Given the description of an element on the screen output the (x, y) to click on. 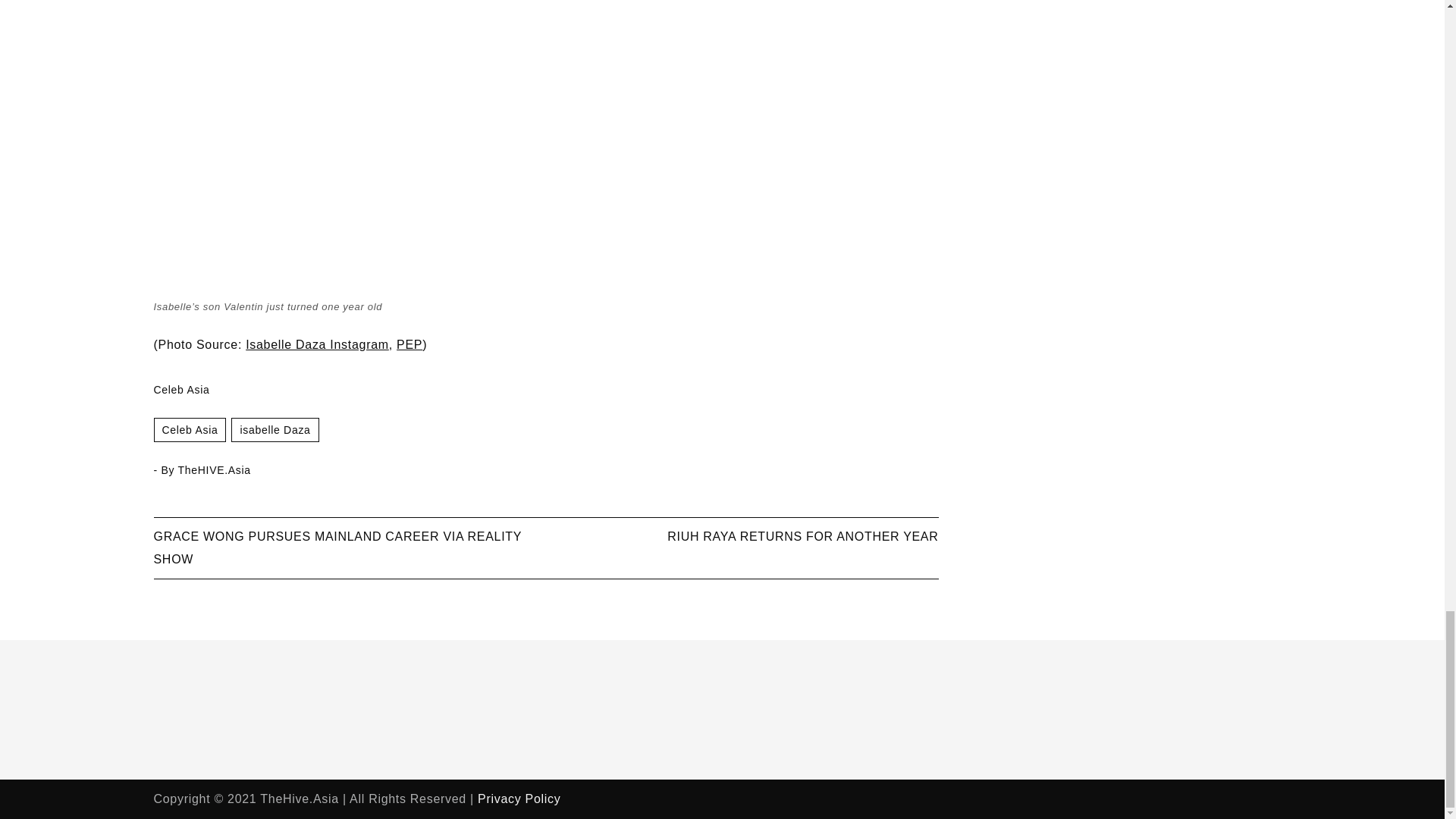
PEP (409, 344)
Isabelle Daza Instagram (317, 344)
RIUH RAYA RETURNS FOR ANOTHER YEAR (801, 535)
Isabelle Daza (274, 429)
Celeb Asia (188, 429)
GRACE WONG PURSUES MAINLAND CAREER VIA REALITY SHOW (336, 547)
Celeb Asia (180, 389)
TheHIVE.Asia (213, 469)
